Given the description of an element on the screen output the (x, y) to click on. 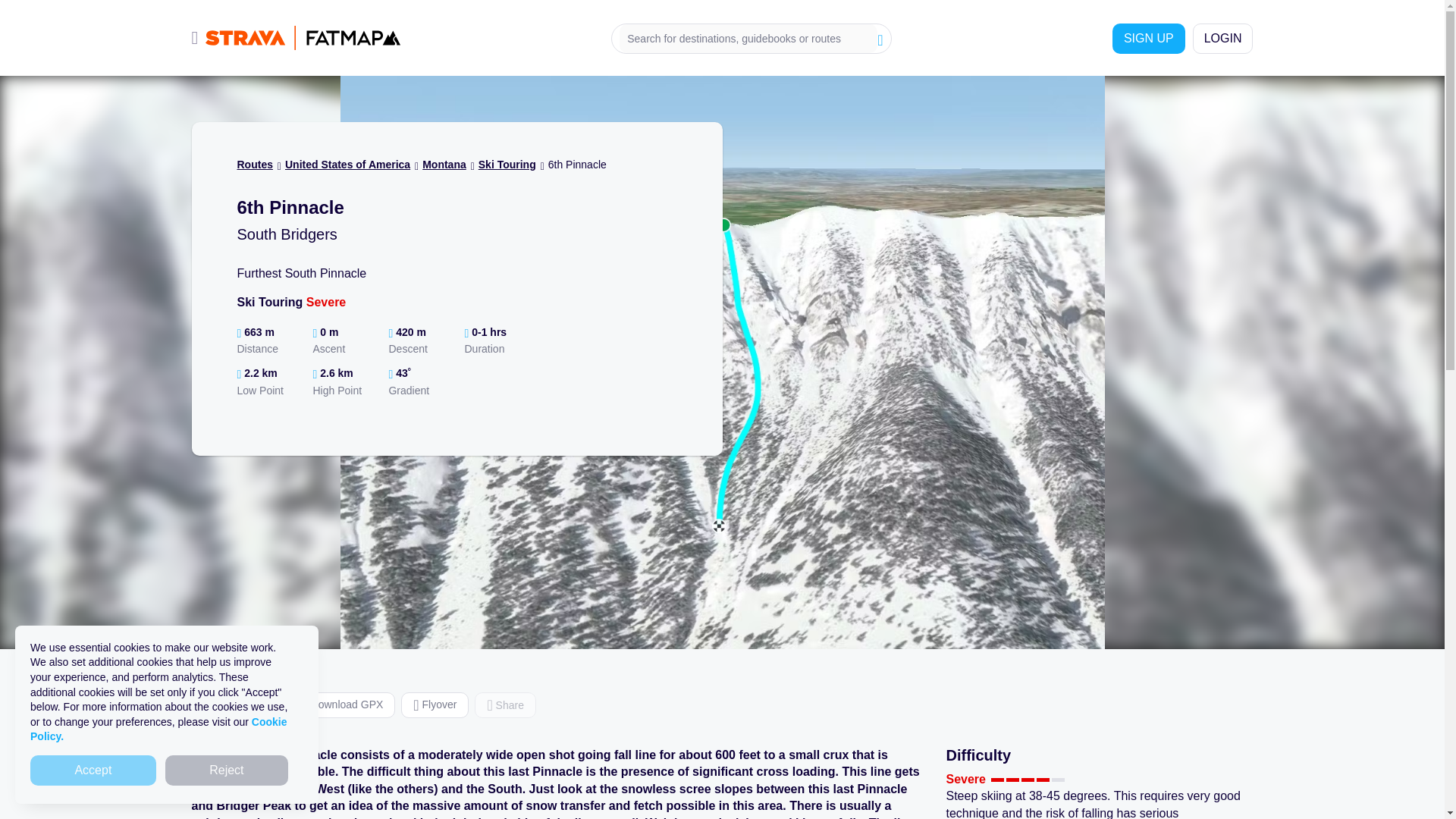
United States of America (347, 164)
Routes (253, 164)
Ski Touring (507, 164)
Montana (443, 164)
Reject (226, 770)
LOGIN (1222, 37)
6th Pinnacle (577, 164)
Accept (92, 770)
View on map (236, 705)
SIGN UP (1148, 37)
Download GPX (341, 705)
Flyover (434, 705)
South Bridgers (285, 234)
FATMAP (303, 37)
Share (504, 705)
